Given the description of an element on the screen output the (x, y) to click on. 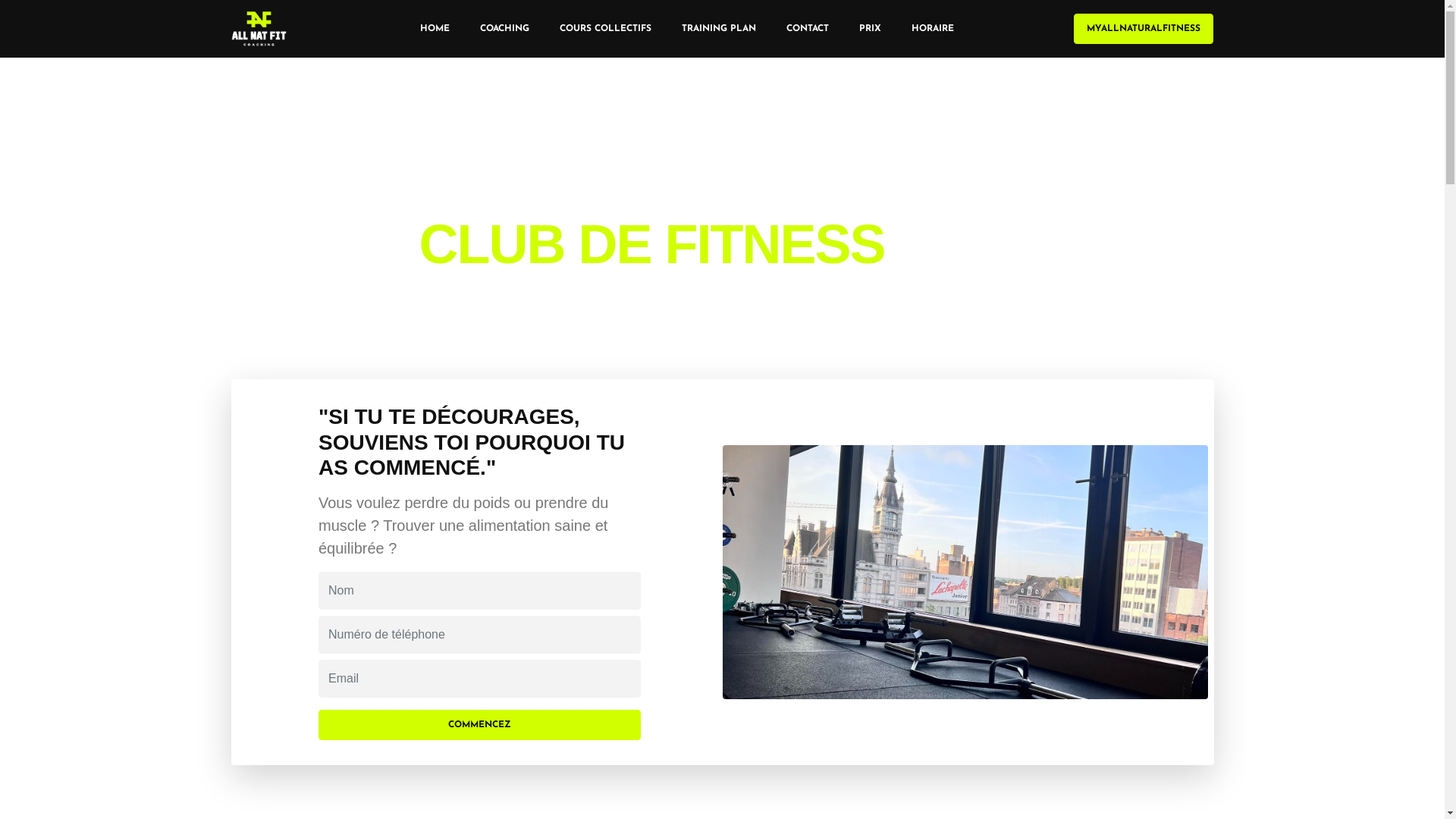
HORAIRE Element type: text (932, 28)
HOME Element type: text (434, 28)
PRIX Element type: text (870, 28)
TRAINING PLAN Element type: text (718, 28)
MYALLNATURALFITNESS Element type: text (1143, 28)
COURS COLLECTIFS Element type: text (605, 28)
COMMENCEZ Element type: text (479, 724)
COACHING Element type: text (504, 28)
CONTACT Element type: text (807, 28)
